Given the description of an element on the screen output the (x, y) to click on. 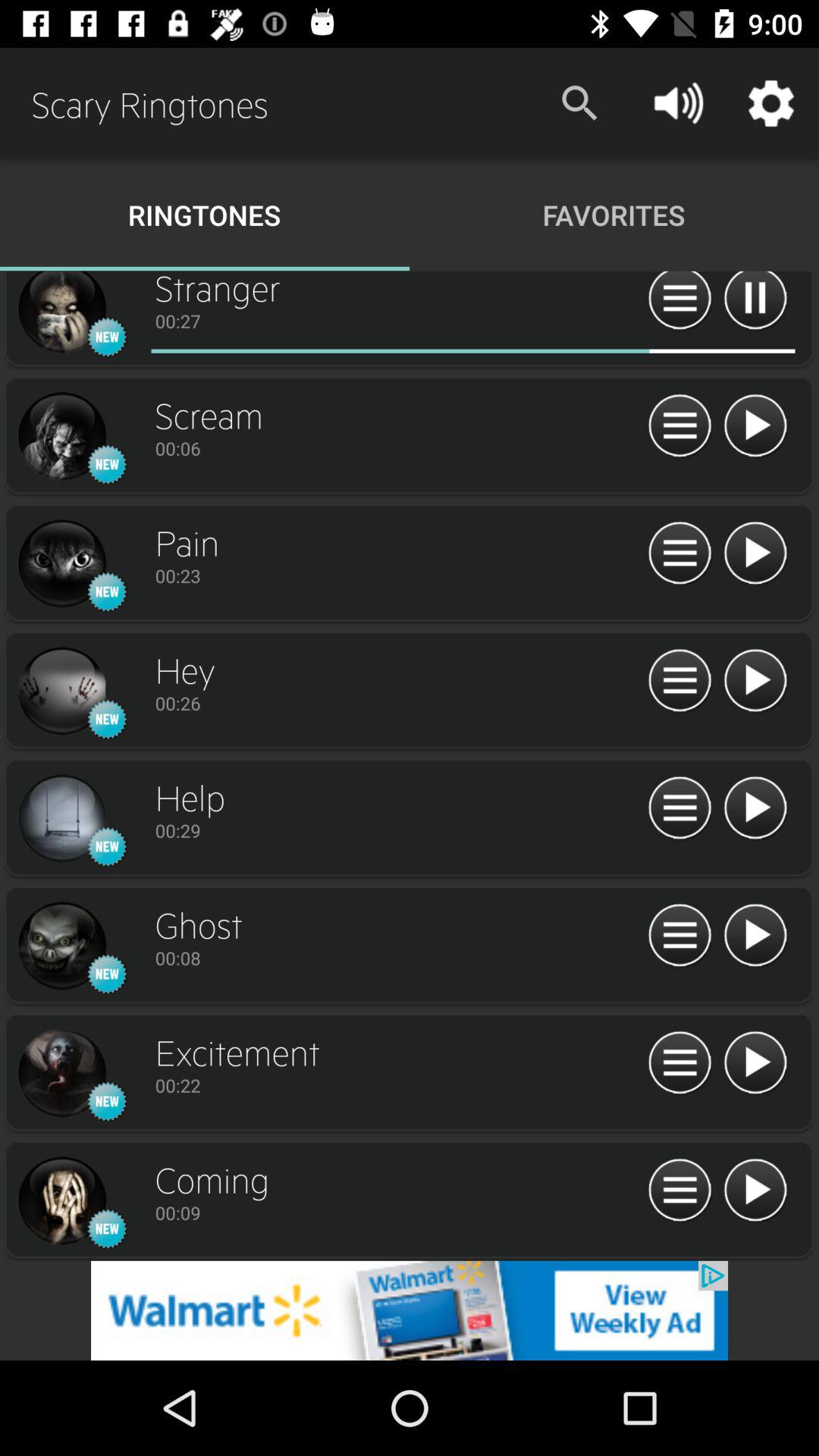
play ringtone (755, 1190)
